Given the description of an element on the screen output the (x, y) to click on. 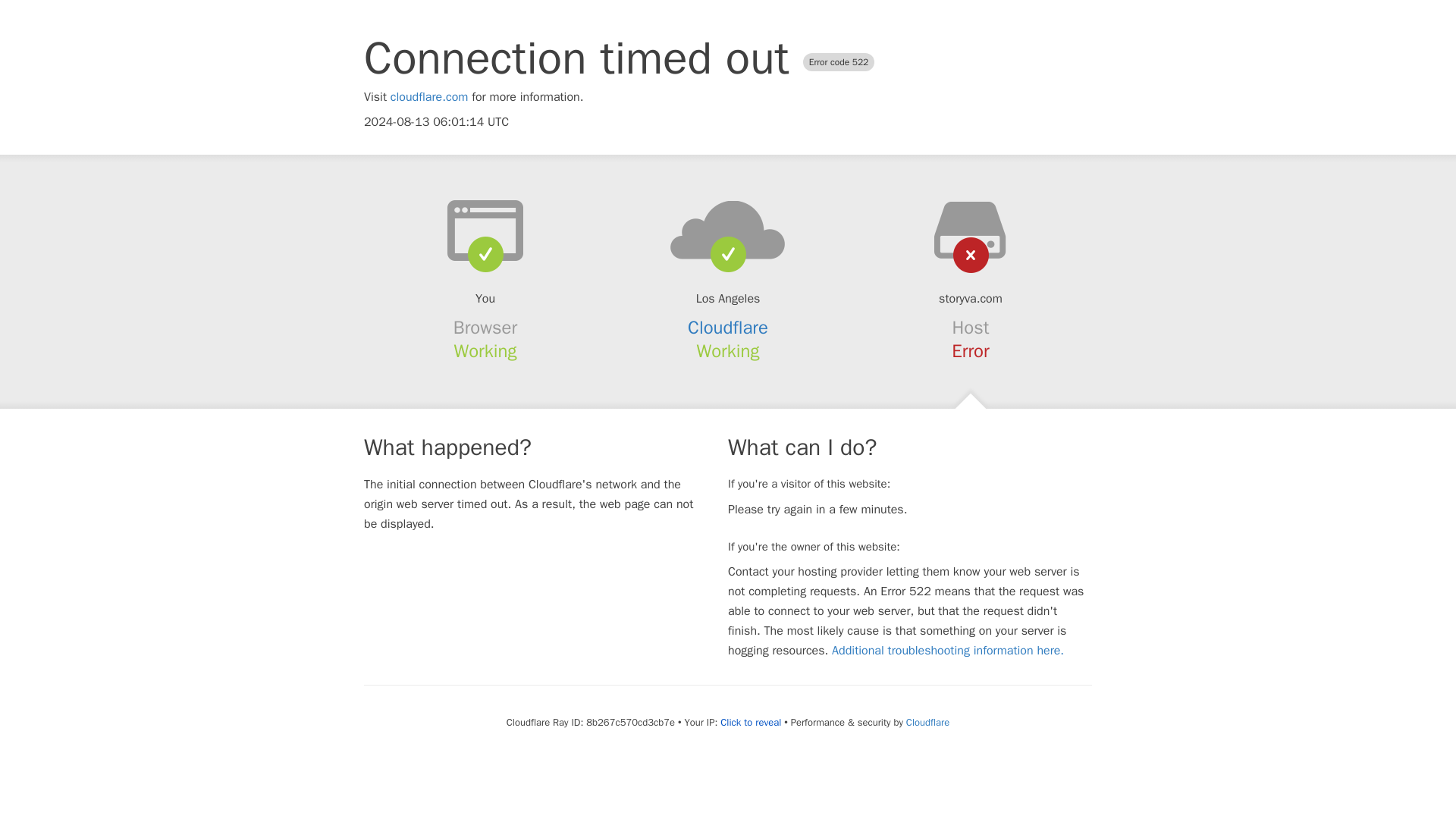
Cloudflare (727, 327)
cloudflare.com (429, 96)
Cloudflare (927, 721)
Additional troubleshooting information here. (947, 650)
Click to reveal (750, 722)
